Given the description of an element on the screen output the (x, y) to click on. 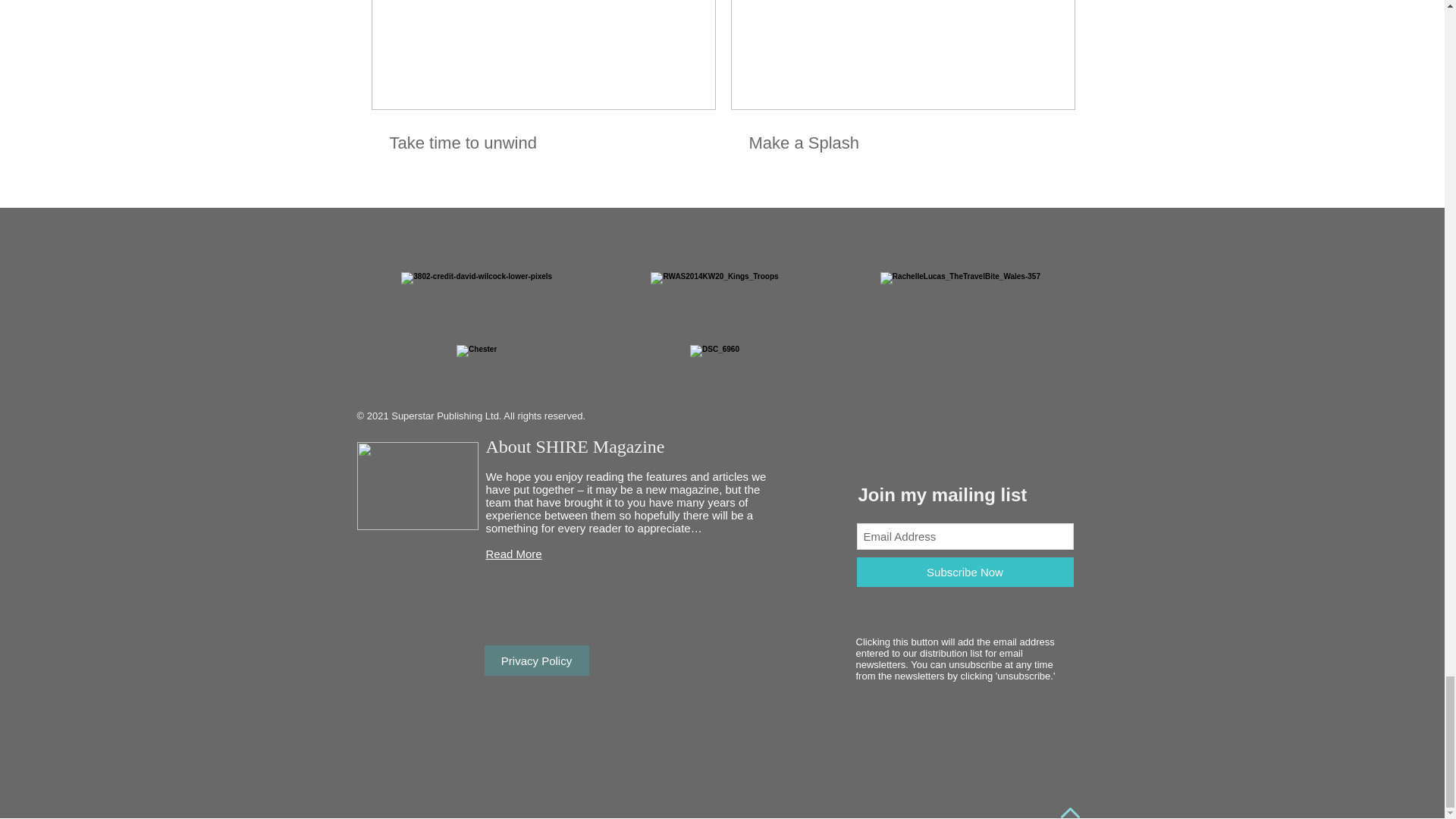
Read More (512, 553)
Subscribe Now (965, 572)
Privacy Policy (535, 660)
Take time to unwind (543, 143)
Make a Splash (903, 143)
